Given the description of an element on the screen output the (x, y) to click on. 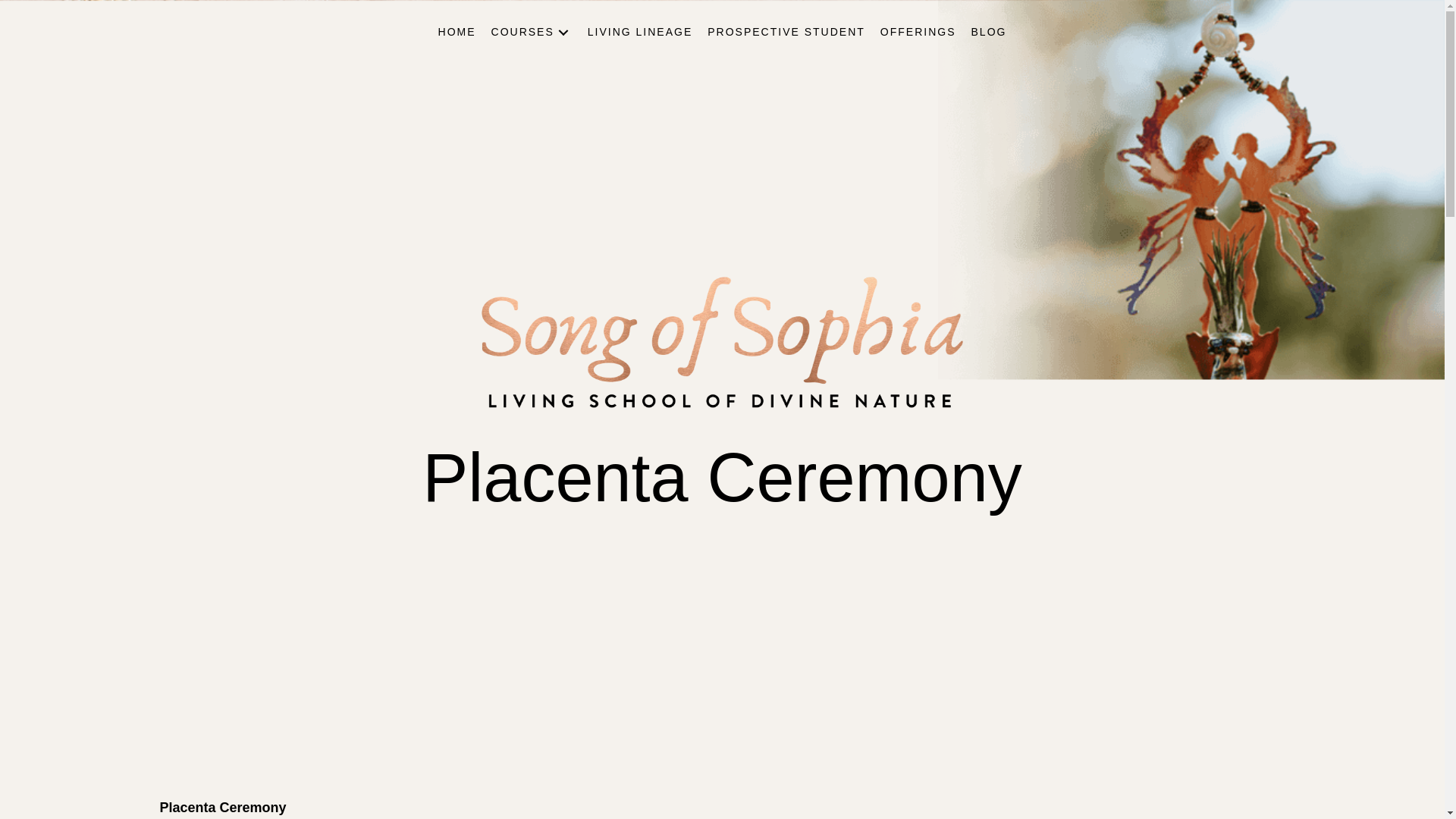
COURSES (531, 32)
4976 Song Of Sophia Logo-02 (722, 338)
HOME (456, 32)
OFFERINGS (917, 32)
PROSPECTIVE STUDENT (786, 32)
LIVING LINEAGE (639, 32)
BLOG (988, 32)
